Given the description of an element on the screen output the (x, y) to click on. 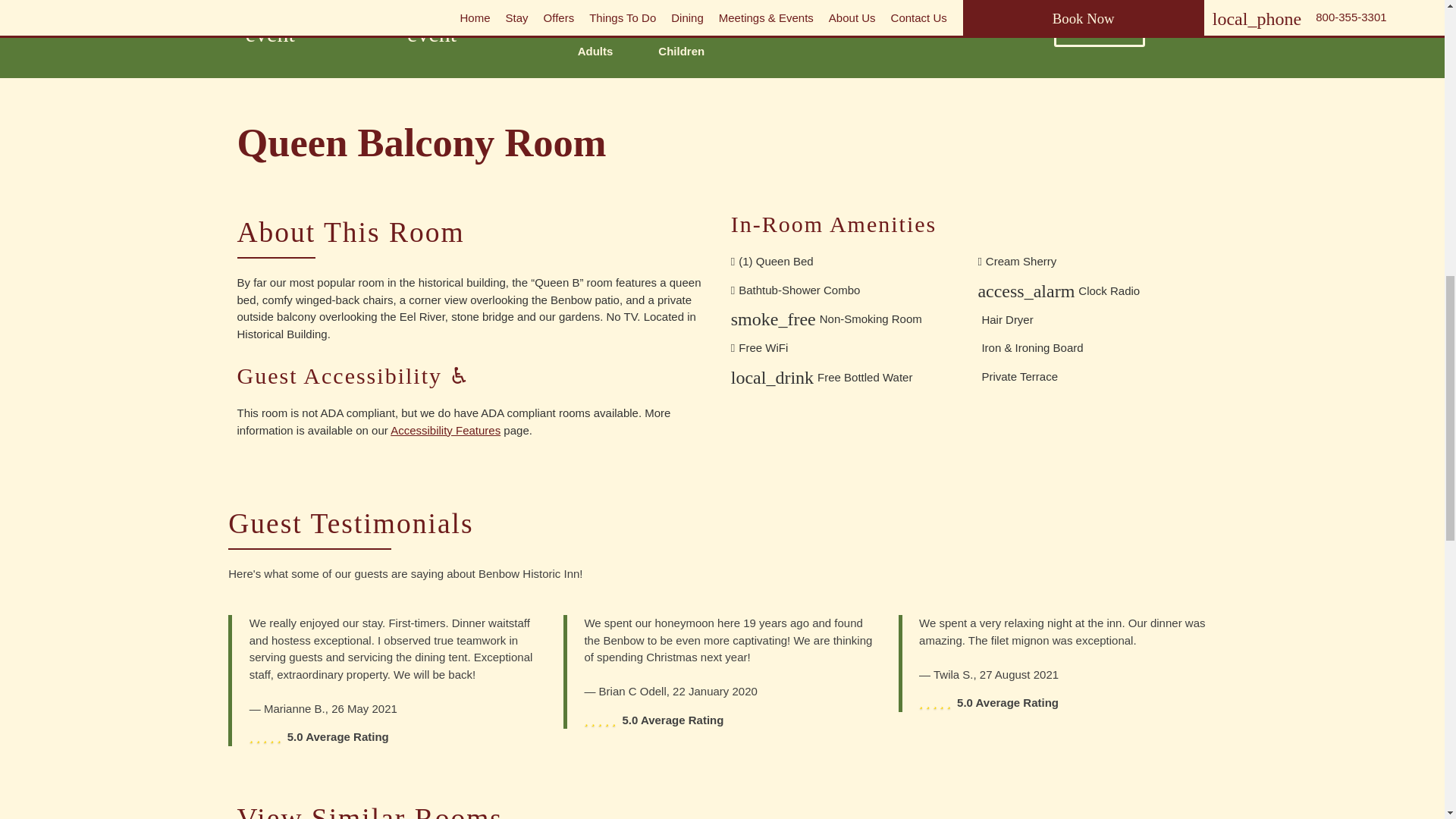
Check Availability (1099, 28)
